Given the description of an element on the screen output the (x, y) to click on. 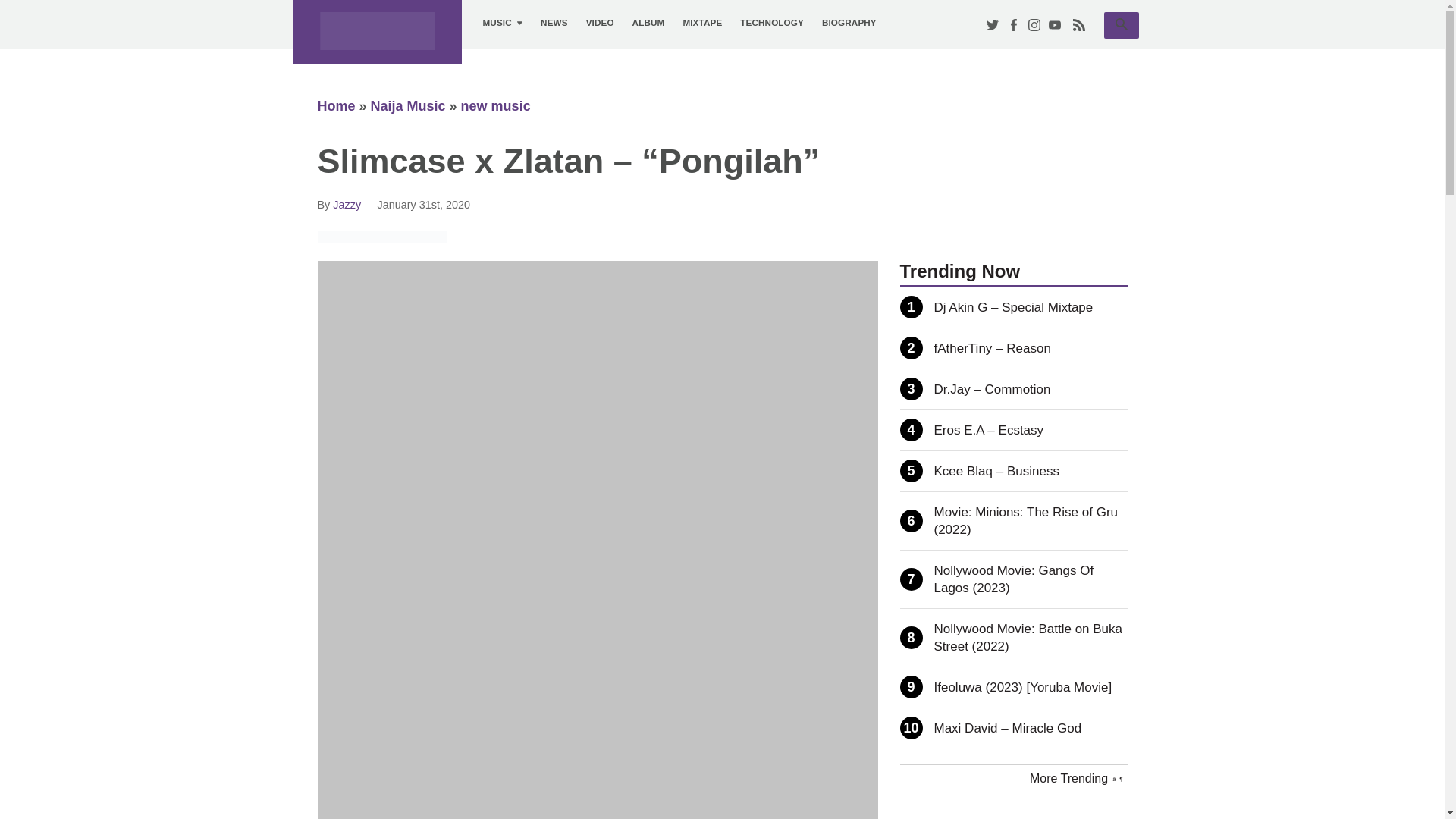
new music (496, 105)
Naija Music (408, 105)
MIXTAPE (701, 22)
BIOGRAPHY (848, 22)
Jazzy (347, 204)
OneMusicNaija (376, 31)
Posts by Jazzy (347, 204)
NEWS (553, 22)
TECHNOLOGY (771, 22)
ALBUM (648, 22)
